Given the description of an element on the screen output the (x, y) to click on. 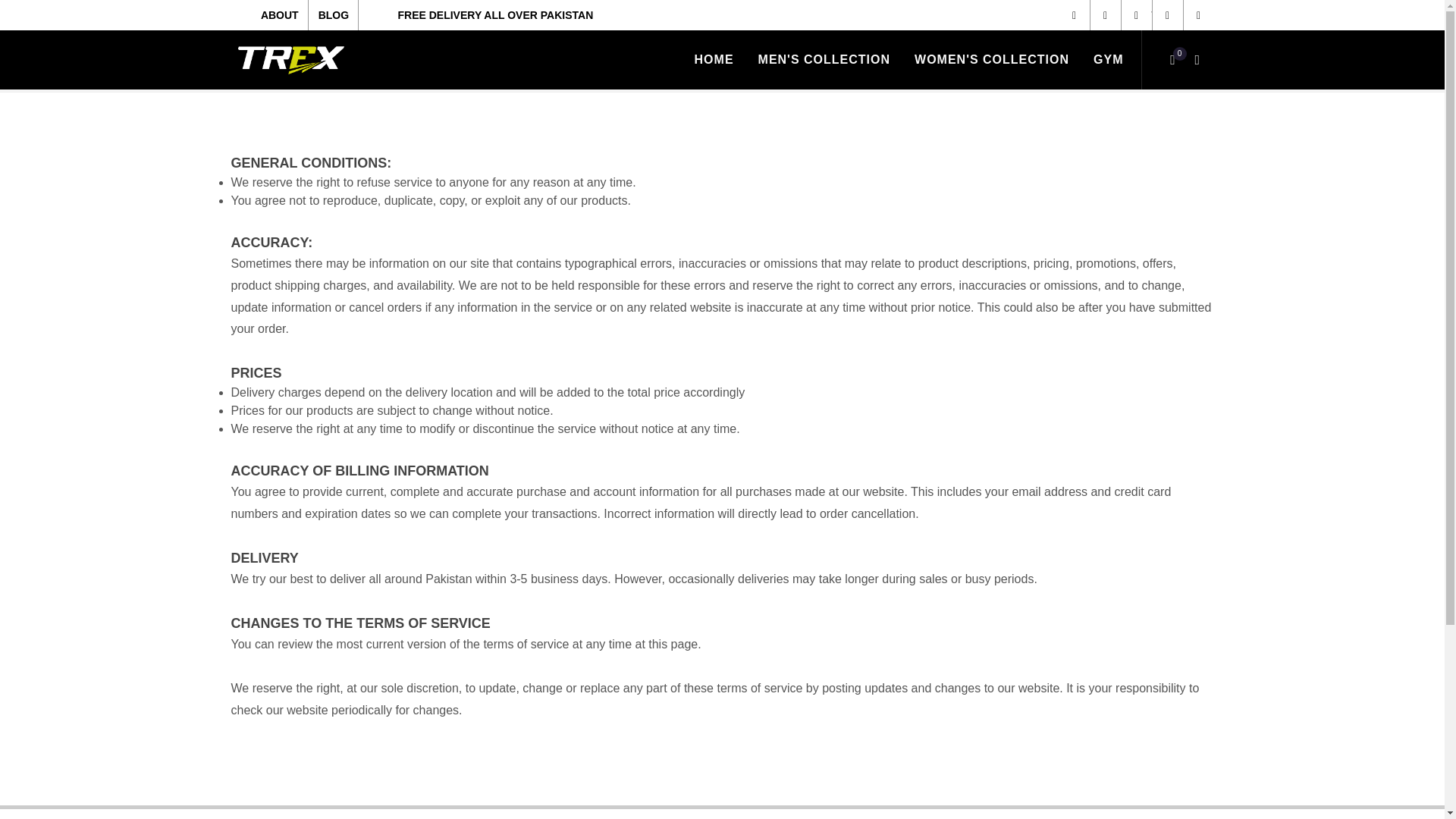
0 (1171, 59)
WOMEN'S COLLECTION (991, 59)
CONTACT (304, 45)
ABOUT (279, 15)
HOME (713, 59)
BLOG (333, 15)
MEN'S COLLECTION (823, 59)
